Given the description of an element on the screen output the (x, y) to click on. 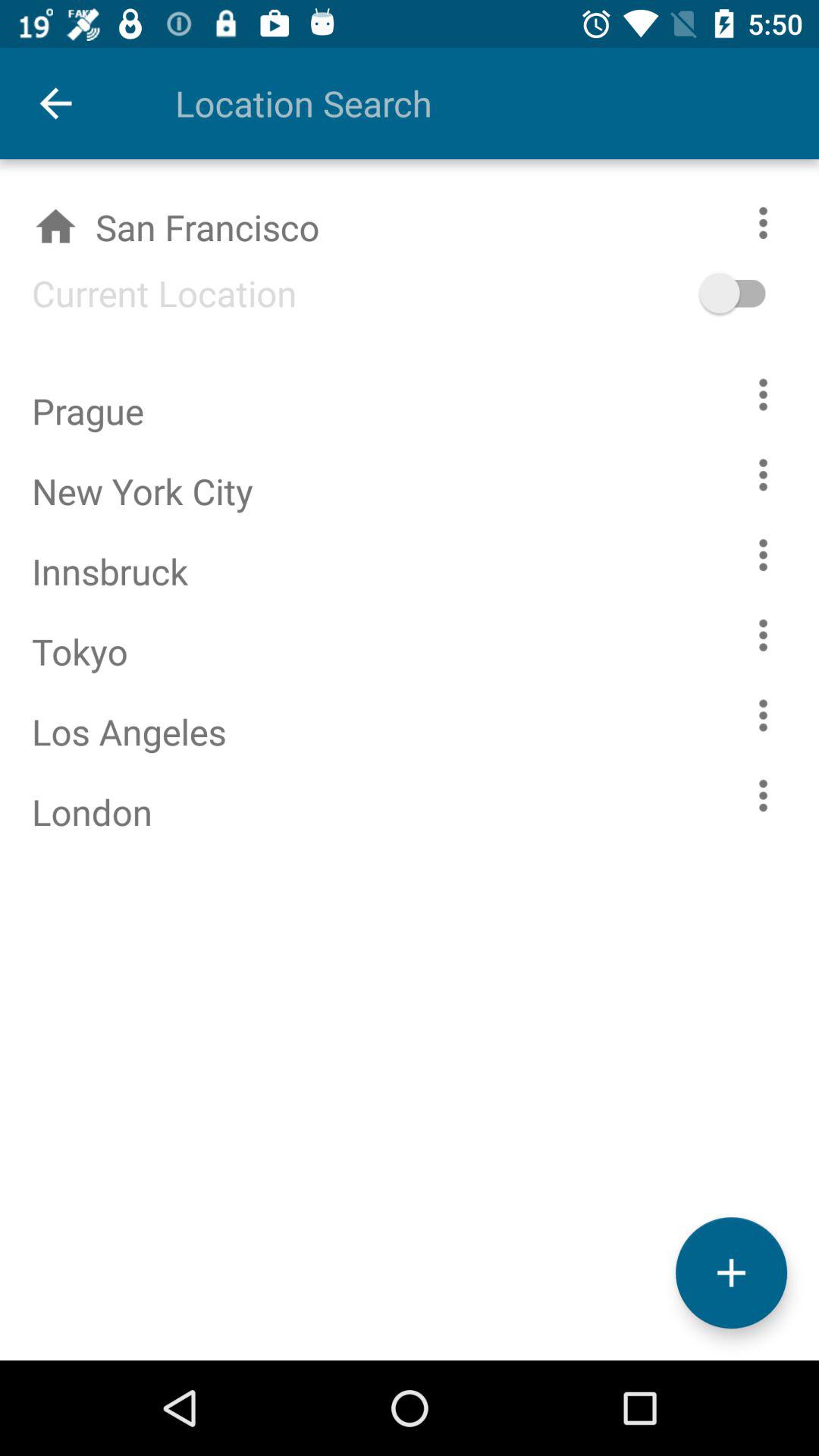
add new city (731, 1272)
